Given the description of an element on the screen output the (x, y) to click on. 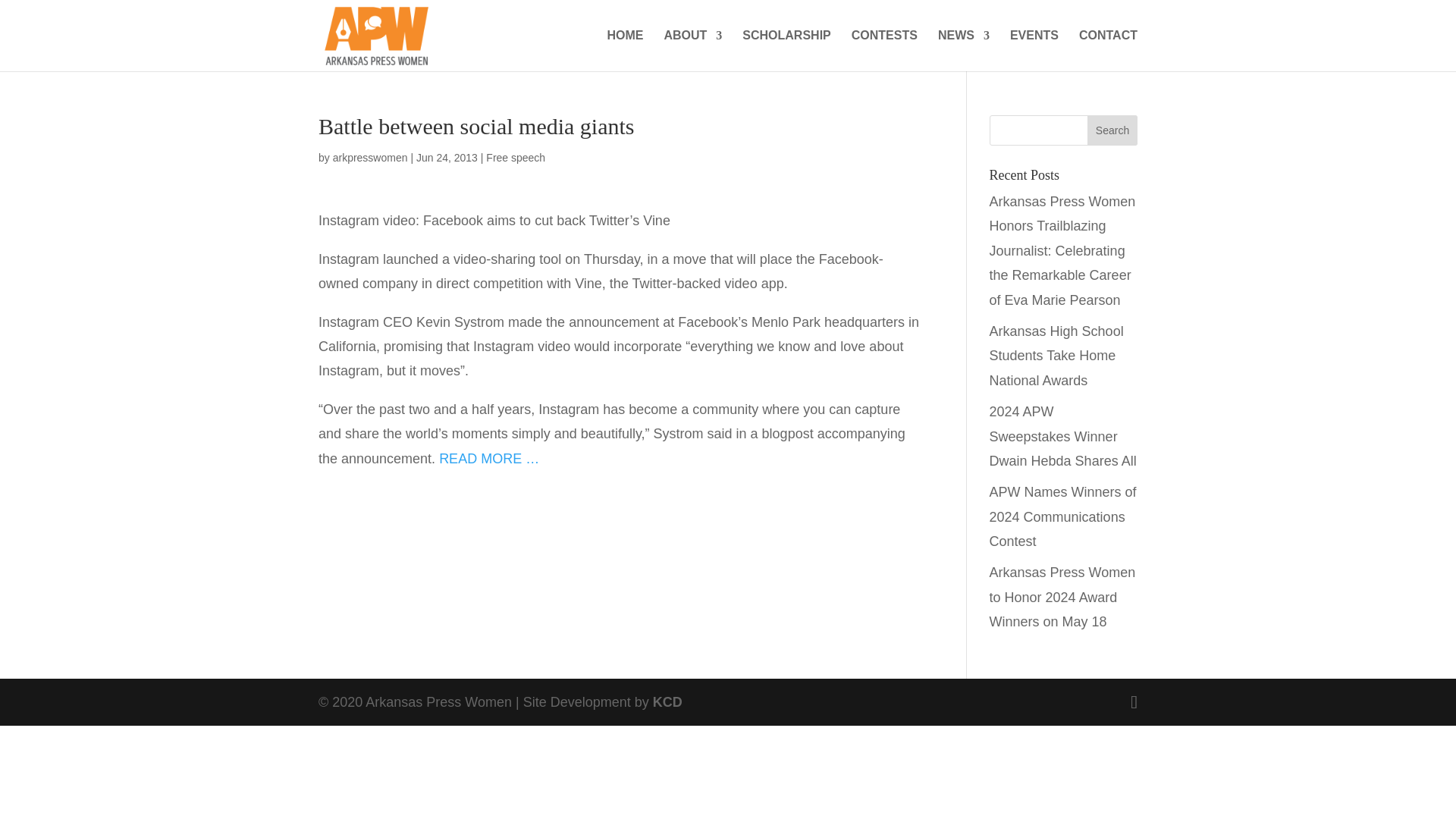
NEWS (963, 50)
Search (1112, 130)
arkpresswomen (370, 157)
HOME (625, 50)
APW Names Winners of 2024 Communications Contest (1063, 516)
Search (1112, 130)
SCHOLARSHIP (785, 50)
CONTESTS (884, 50)
Arkansas High School Students Take Home National Awards (1057, 355)
ABOUT (692, 50)
Free speech (515, 157)
CONTACT (1107, 50)
Arkansas Press Women to Honor 2024 Award Winners on May 18 (1062, 597)
EVENTS (1034, 50)
